Given the description of an element on the screen output the (x, y) to click on. 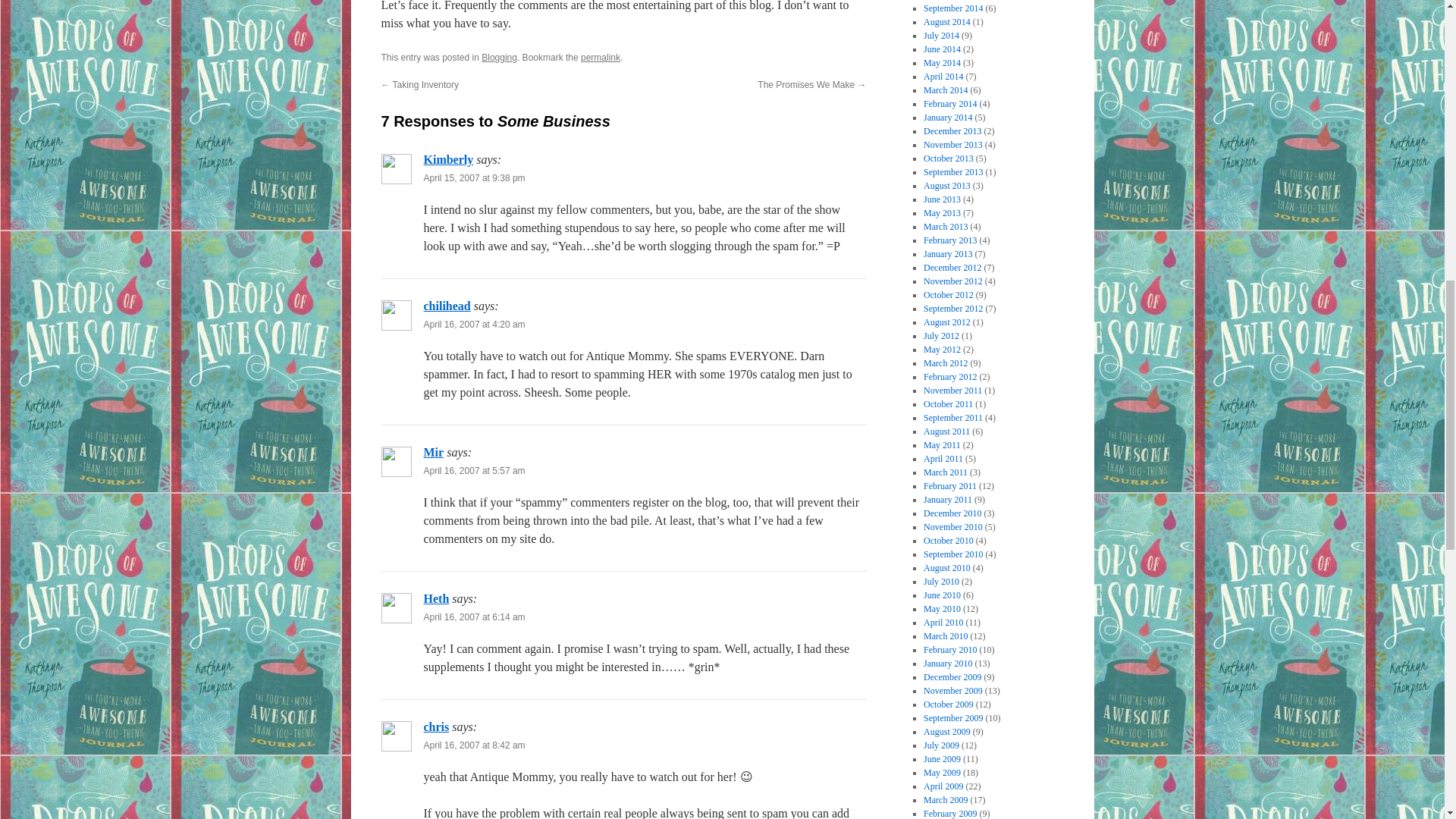
Permalink to Some Business (600, 57)
chris (435, 726)
April 16, 2007 at 6:14 am (473, 616)
Kimberly (448, 159)
April 16, 2007 at 4:20 am (473, 324)
Heth (435, 598)
April 16, 2007 at 8:42 am (473, 745)
chilihead (446, 305)
Blogging (498, 57)
permalink (600, 57)
